Given the description of an element on the screen output the (x, y) to click on. 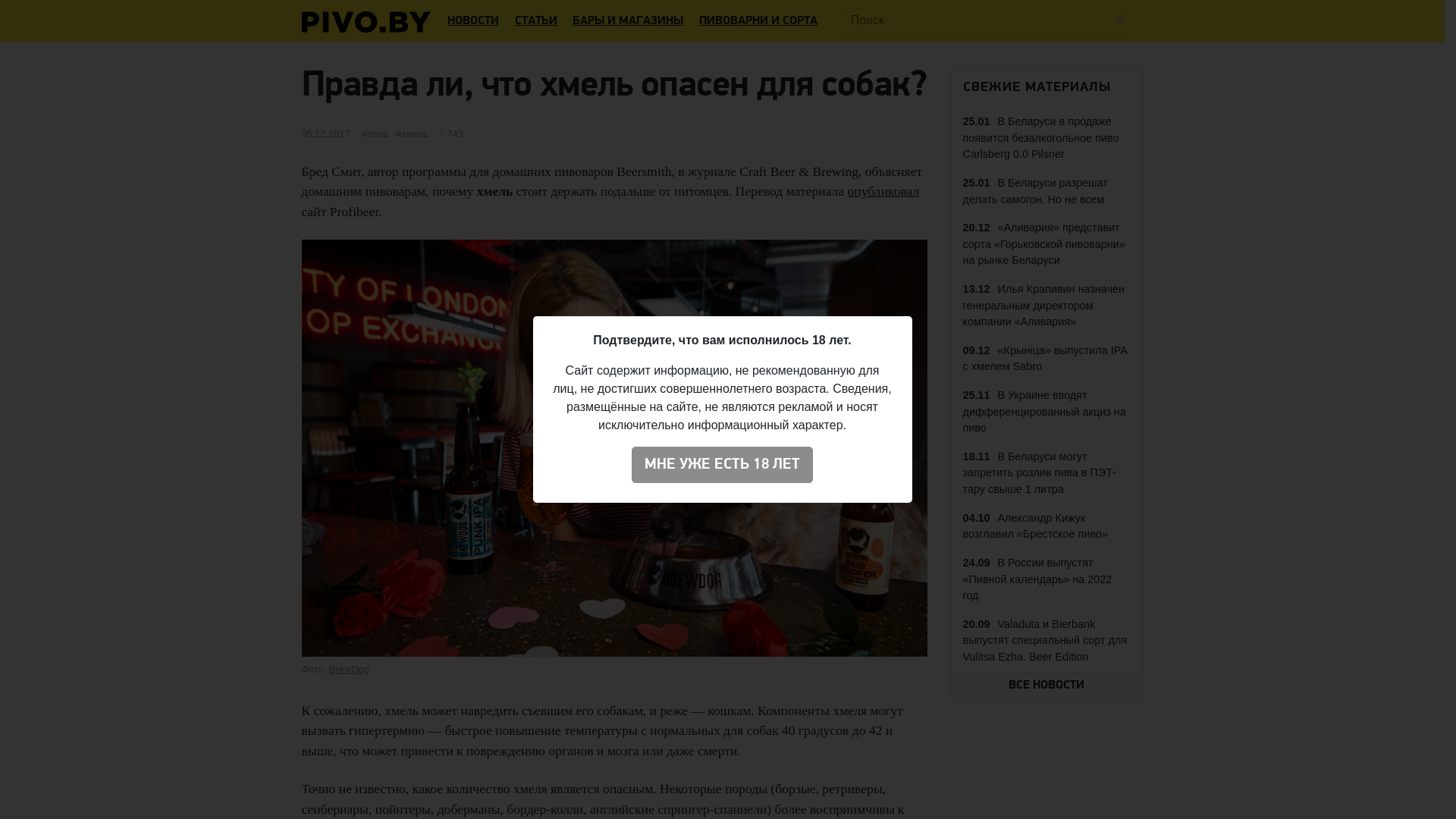
BrewDog Element type: text (349, 668)
